Given the description of an element on the screen output the (x, y) to click on. 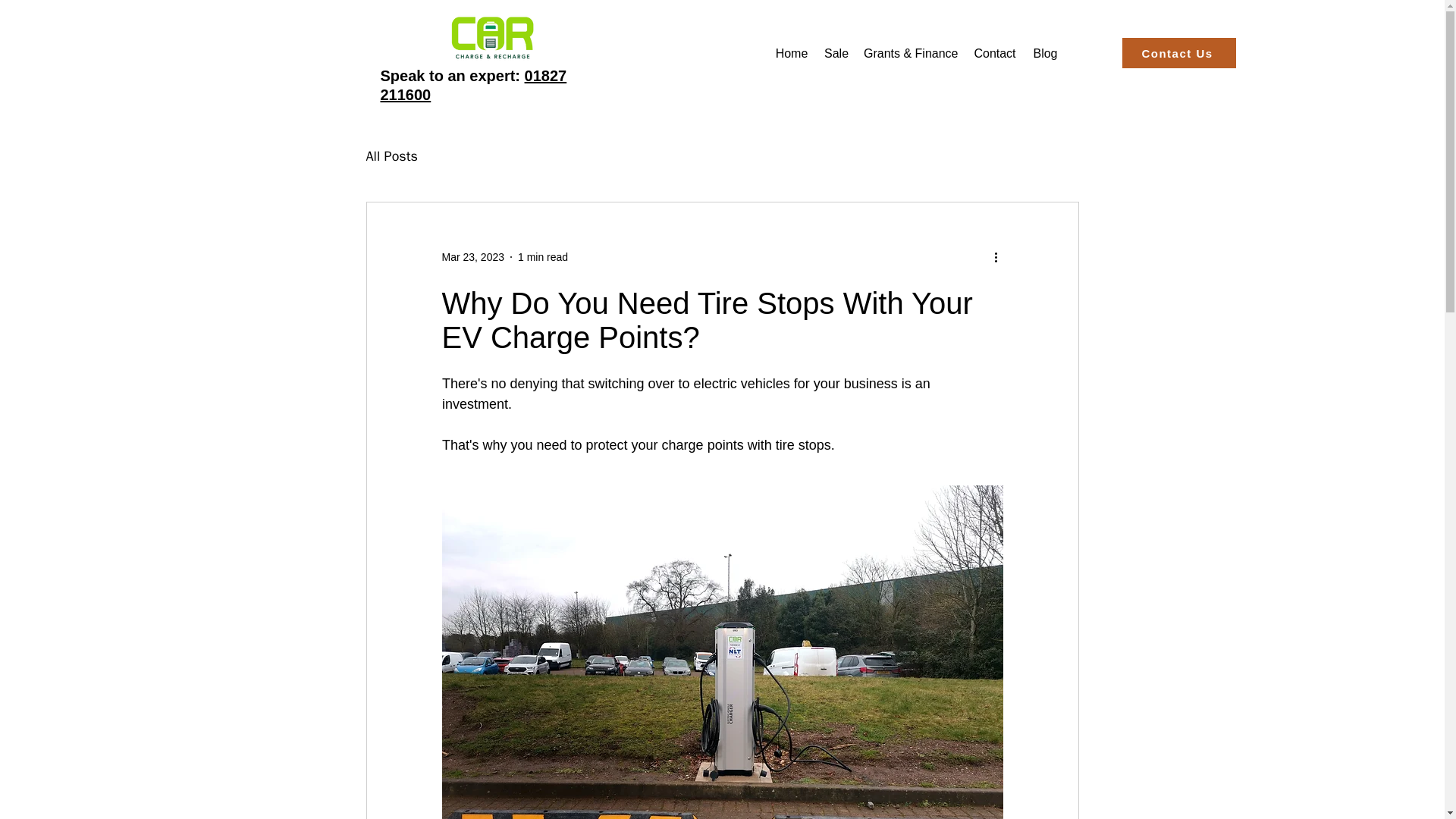
01827 211600 (473, 85)
Contact (995, 53)
Mar 23, 2023 (472, 256)
Sale (836, 53)
Home (791, 53)
Contact Us (1179, 52)
1 min read (542, 256)
Blog (1045, 53)
All Posts (390, 156)
